Given the description of an element on the screen output the (x, y) to click on. 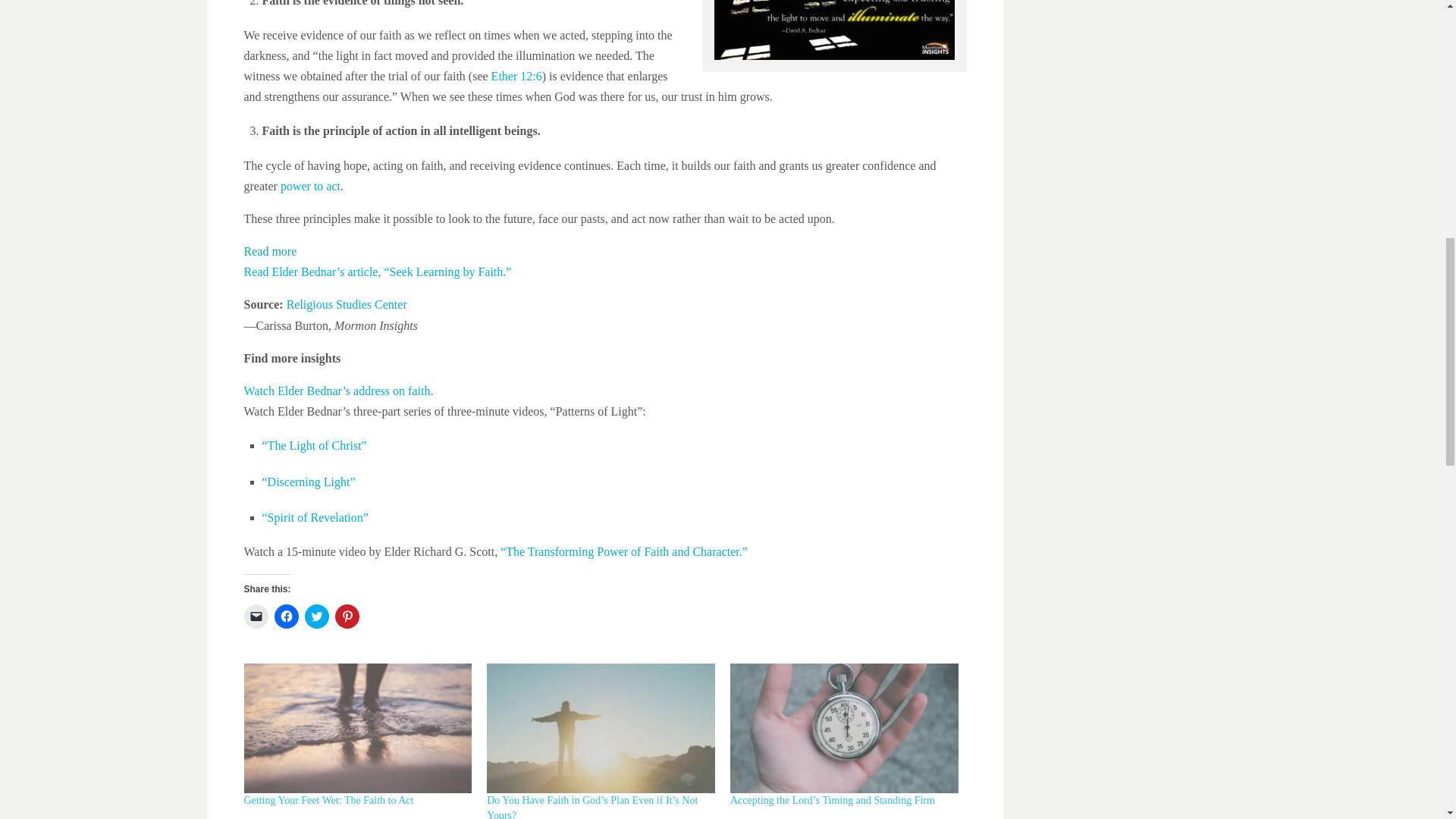
Getting Your Feet Wet: The Faith to Act (357, 728)
Religious Studies Center  (348, 304)
Click to share on Pinterest (346, 616)
Click to share on Facebook (286, 616)
Ether 12:6 (516, 75)
Click to share on Twitter (316, 616)
power to act (310, 185)
Getting Your Feet Wet: The Faith to Act (328, 799)
Read more (270, 250)
Click to email a link to a friend (255, 616)
